Given the description of an element on the screen output the (x, y) to click on. 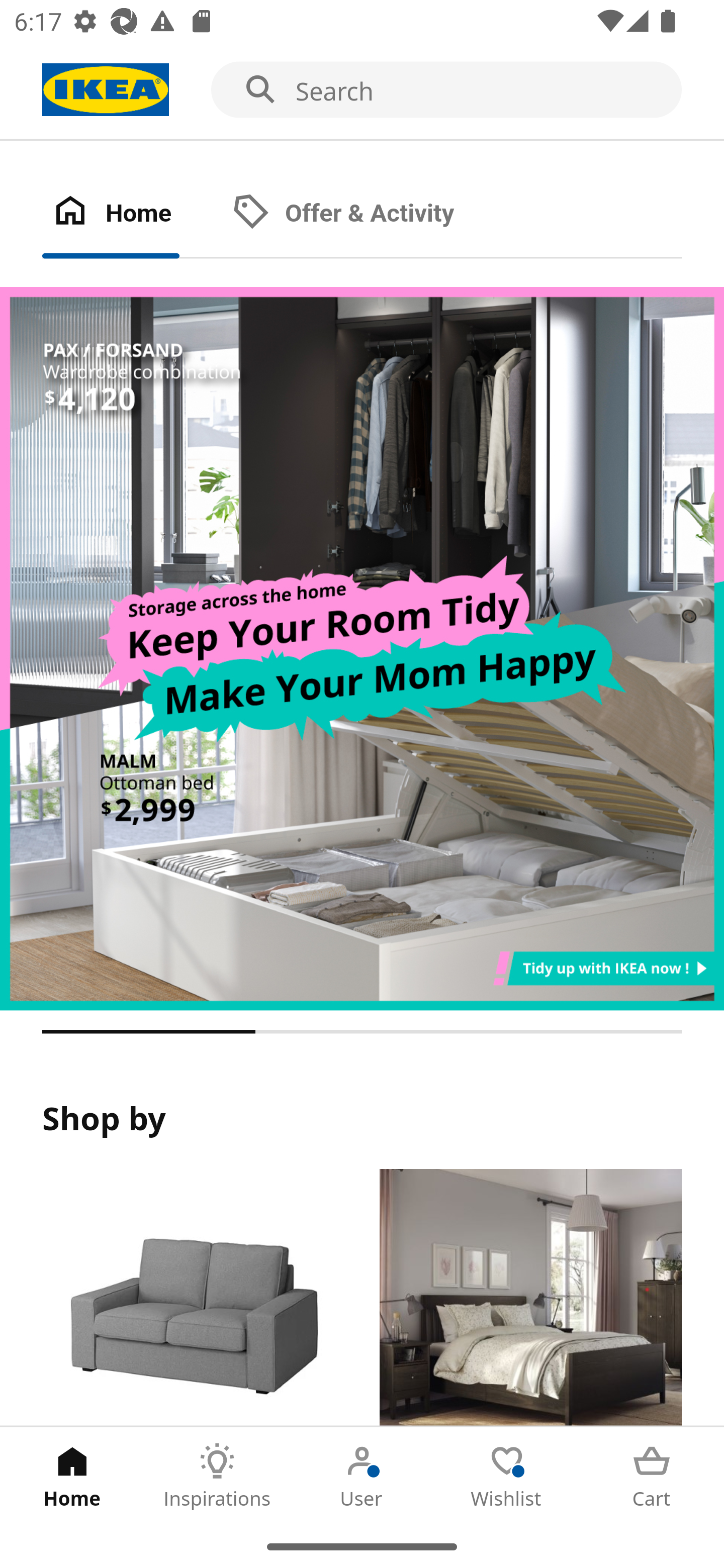
Search (361, 90)
Home
Tab 1 of 2 (131, 213)
Offer & Activity
Tab 2 of 2 (363, 213)
Products (192, 1297)
Rooms (530, 1297)
Home
Tab 1 of 5 (72, 1476)
Inspirations
Tab 2 of 5 (216, 1476)
User
Tab 3 of 5 (361, 1476)
Wishlist
Tab 4 of 5 (506, 1476)
Cart
Tab 5 of 5 (651, 1476)
